Given the description of an element on the screen output the (x, y) to click on. 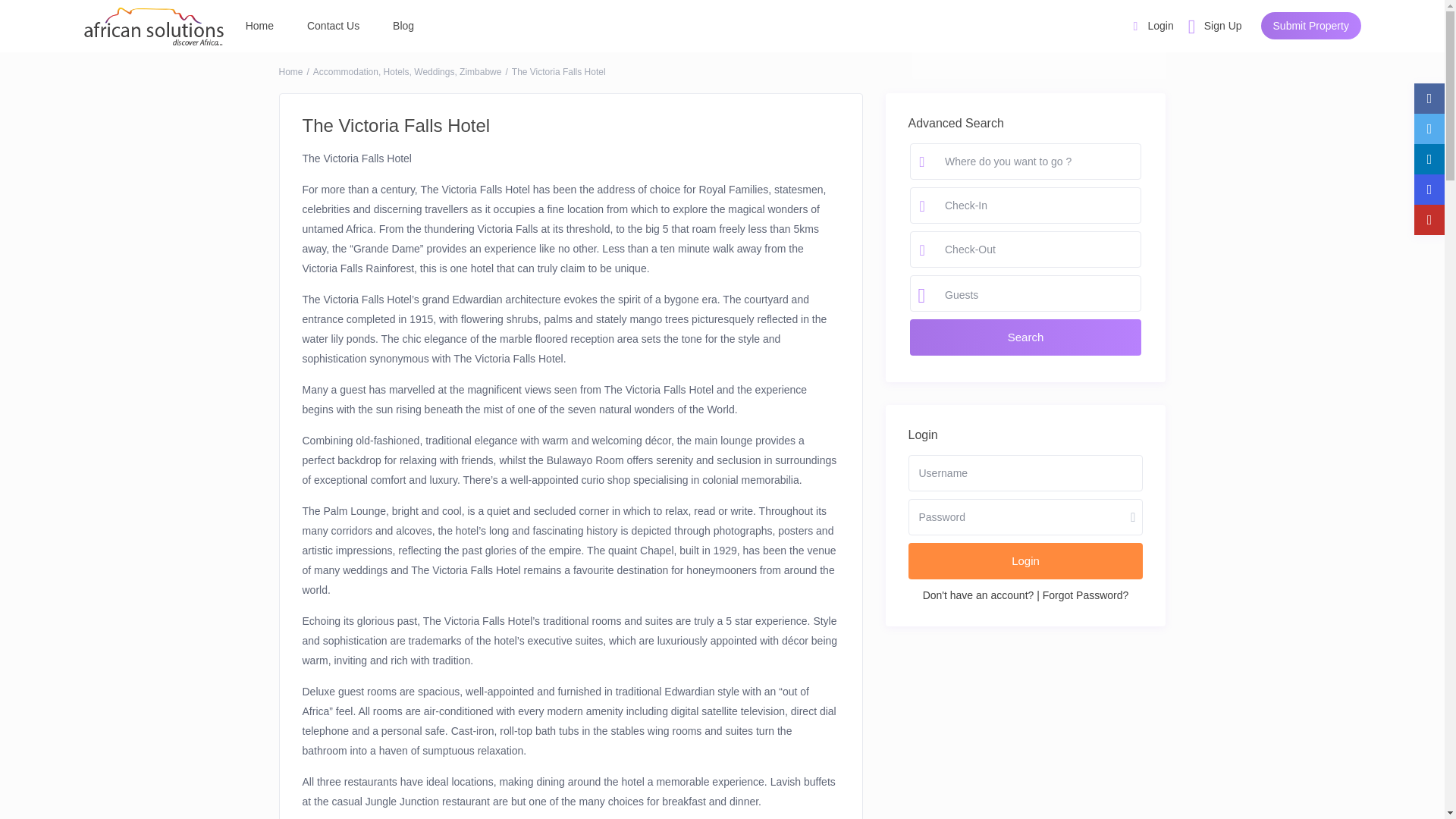
Contact Us (333, 25)
Home (259, 25)
Search (1038, 30)
Search (1038, 30)
Weddings (433, 71)
Blog (403, 25)
Accommodation (345, 71)
Search (1025, 337)
Search (1025, 337)
Zimbabwe (480, 71)
Submit Property (1310, 25)
Home (290, 71)
Hotels (396, 71)
Search (1038, 30)
